Given the description of an element on the screen output the (x, y) to click on. 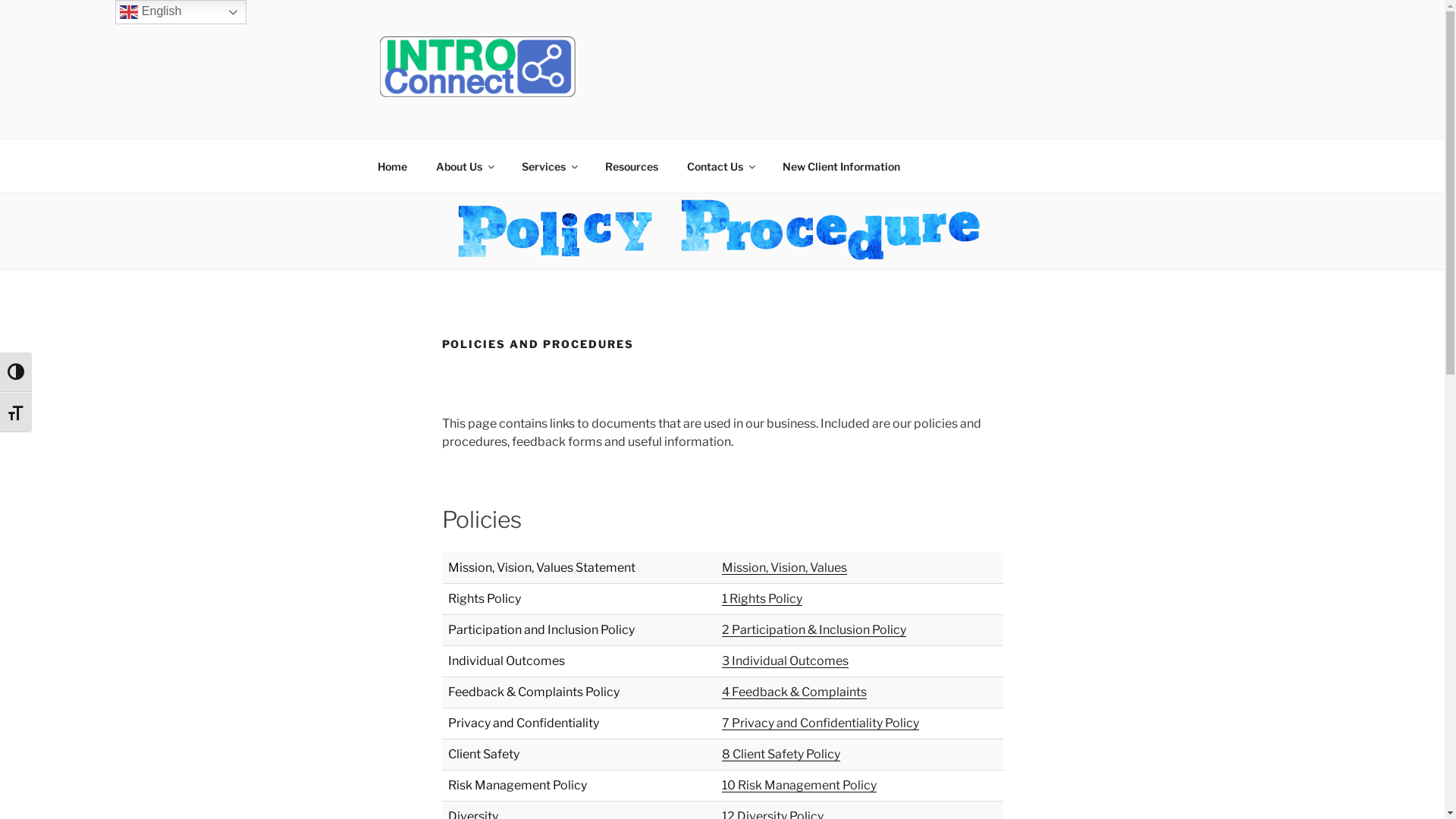
4 Feedback & Complaints Element type: text (793, 691)
3 Individual Outcomes Element type: text (784, 660)
10 Risk Management Policy Element type: text (798, 785)
1 Rights Policy Element type: text (761, 598)
English Element type: text (180, 12)
New Client Information Element type: text (840, 165)
Services Element type: text (548, 165)
About Us Element type: text (464, 165)
Home Element type: text (392, 165)
Contact Us Element type: text (719, 165)
2 Participation & Inclusion Policy Element type: text (813, 629)
INTROCONNECT Element type: text (505, 118)
8 Client Safety Policy Element type: text (780, 753)
7 Privacy and Confidentiality Policy Element type: text (820, 722)
Toggle Font size Element type: text (15, 412)
Resources Element type: text (631, 165)
Toggle High Contrast Element type: text (15, 371)
Mission, Vision, Values Element type: text (784, 567)
